Given the description of an element on the screen output the (x, y) to click on. 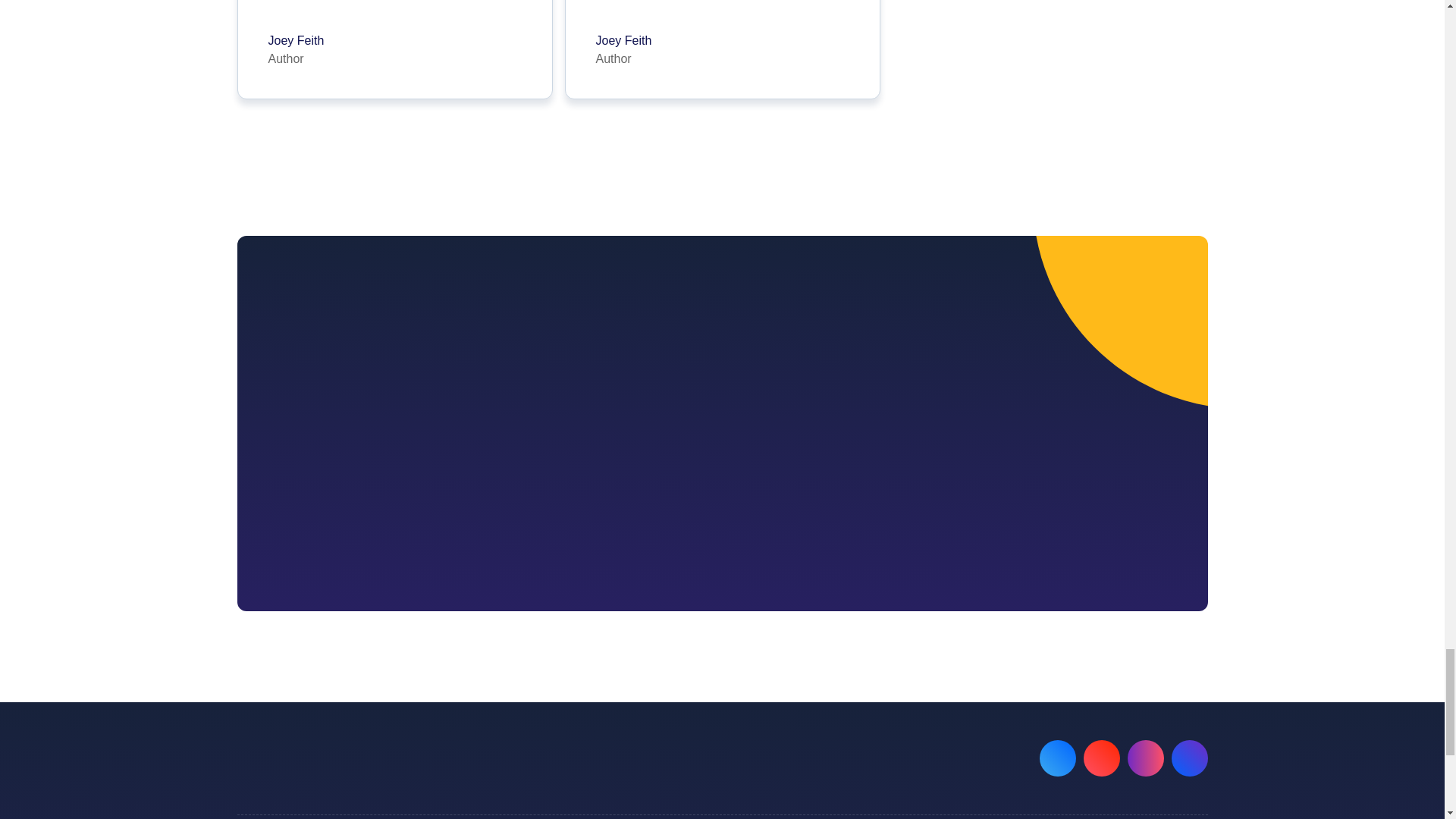
Subscribe  (394, 40)
